Given the description of an element on the screen output the (x, y) to click on. 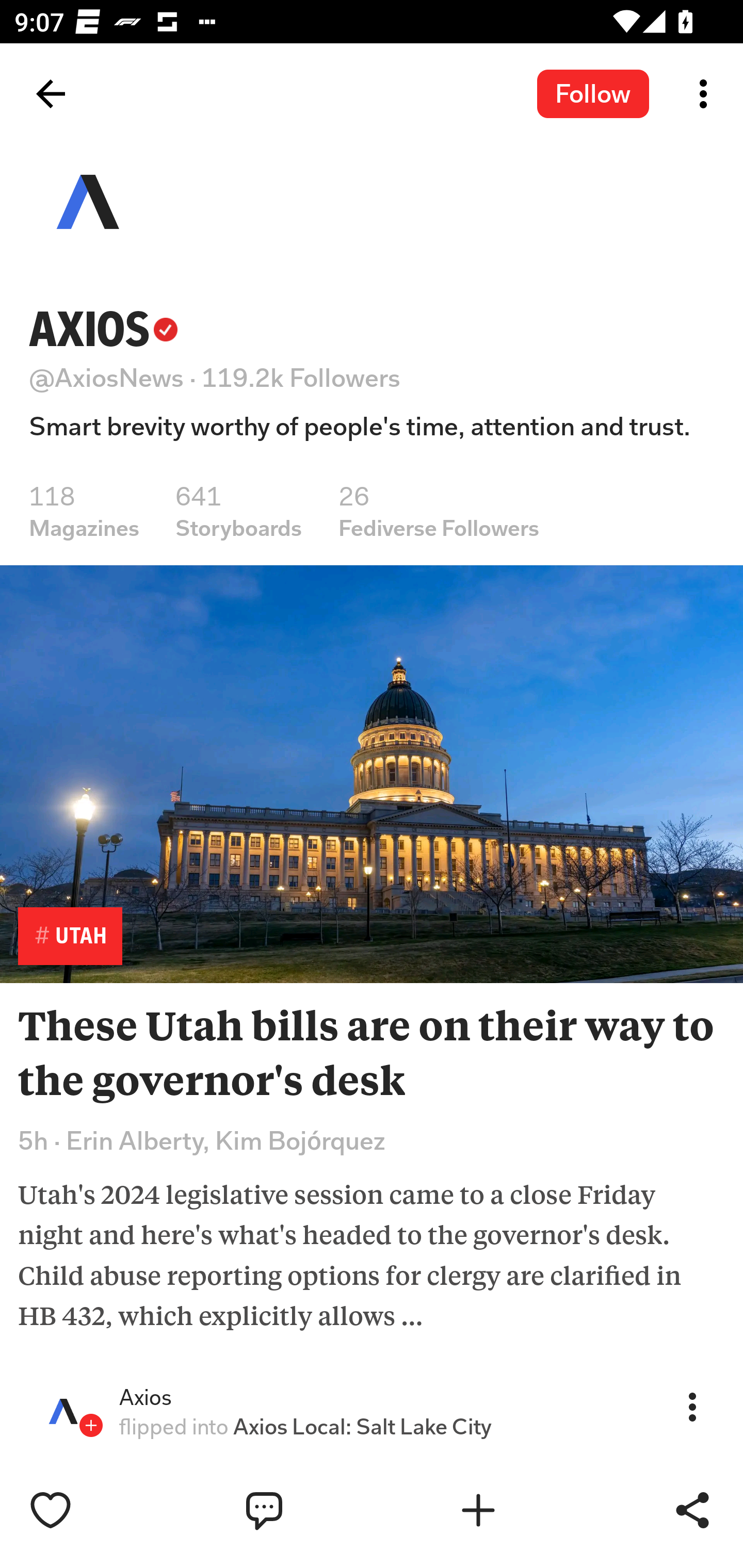
Back (50, 93)
More options (706, 93)
Follow (593, 92)
AXIOS (102, 328)
@AxiosNews (105, 377)
119.2k Followers (301, 377)
118 Magazines (84, 510)
641 Storyboards (238, 510)
26 Fediverse Followers (438, 510)
# UTAH (69, 935)
More (692, 1406)
Axios (144, 1397)
flipped into Axios Local: Salt Lake City  (307, 1426)
Like (93, 1509)
Write a comment… (307, 1509)
Flip into Magazine (521, 1509)
Share (692, 1509)
